Given the description of an element on the screen output the (x, y) to click on. 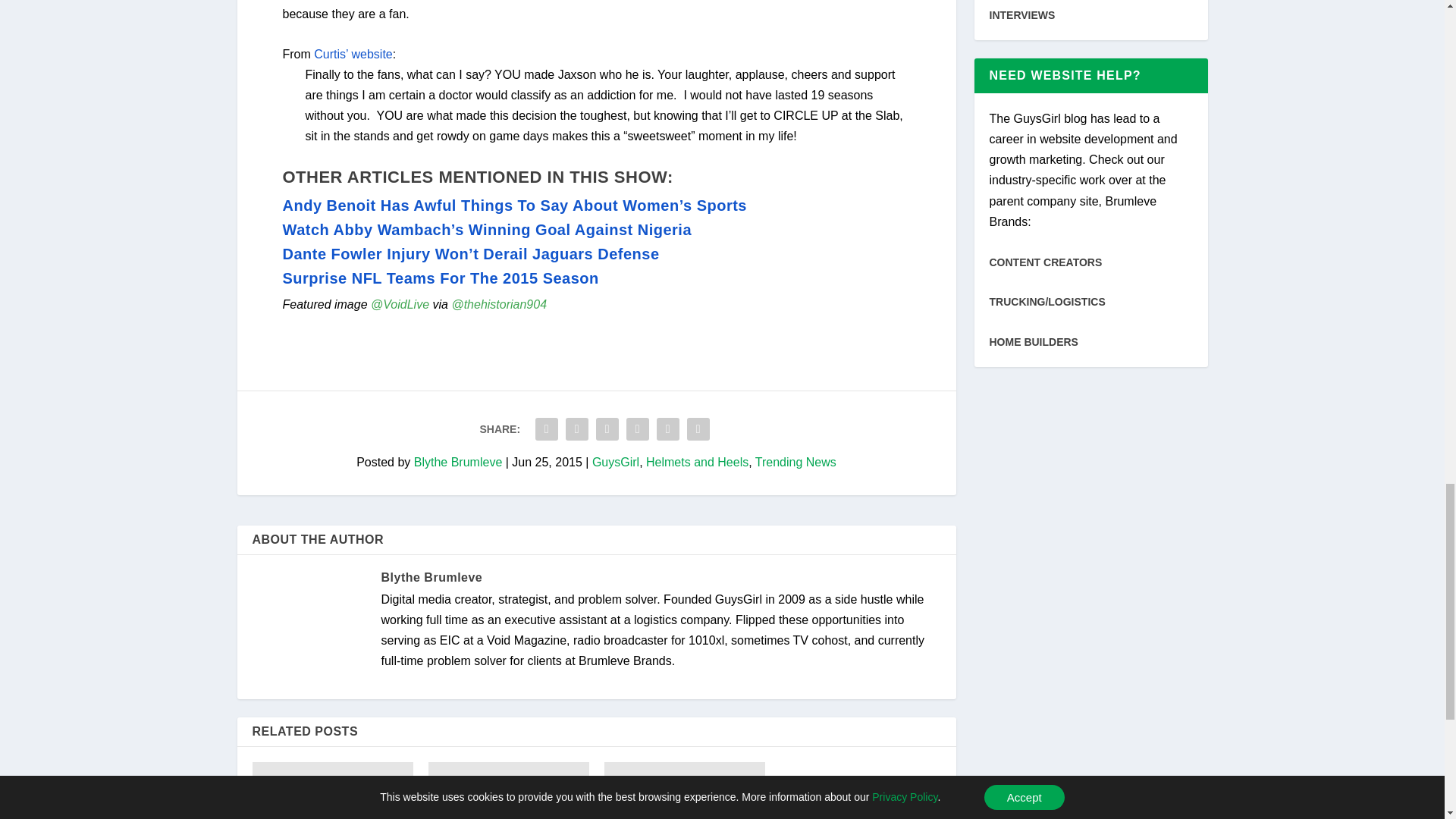
NFL Live Game Entertainment (331, 790)
View all posts by Blythe Brumleve (430, 576)
Posts by Blythe Brumleve (457, 461)
Surprise NFL Teams For The 2015 Season (440, 278)
The Rivalries in College Football vs. NFL (684, 790)
